Given the description of an element on the screen output the (x, y) to click on. 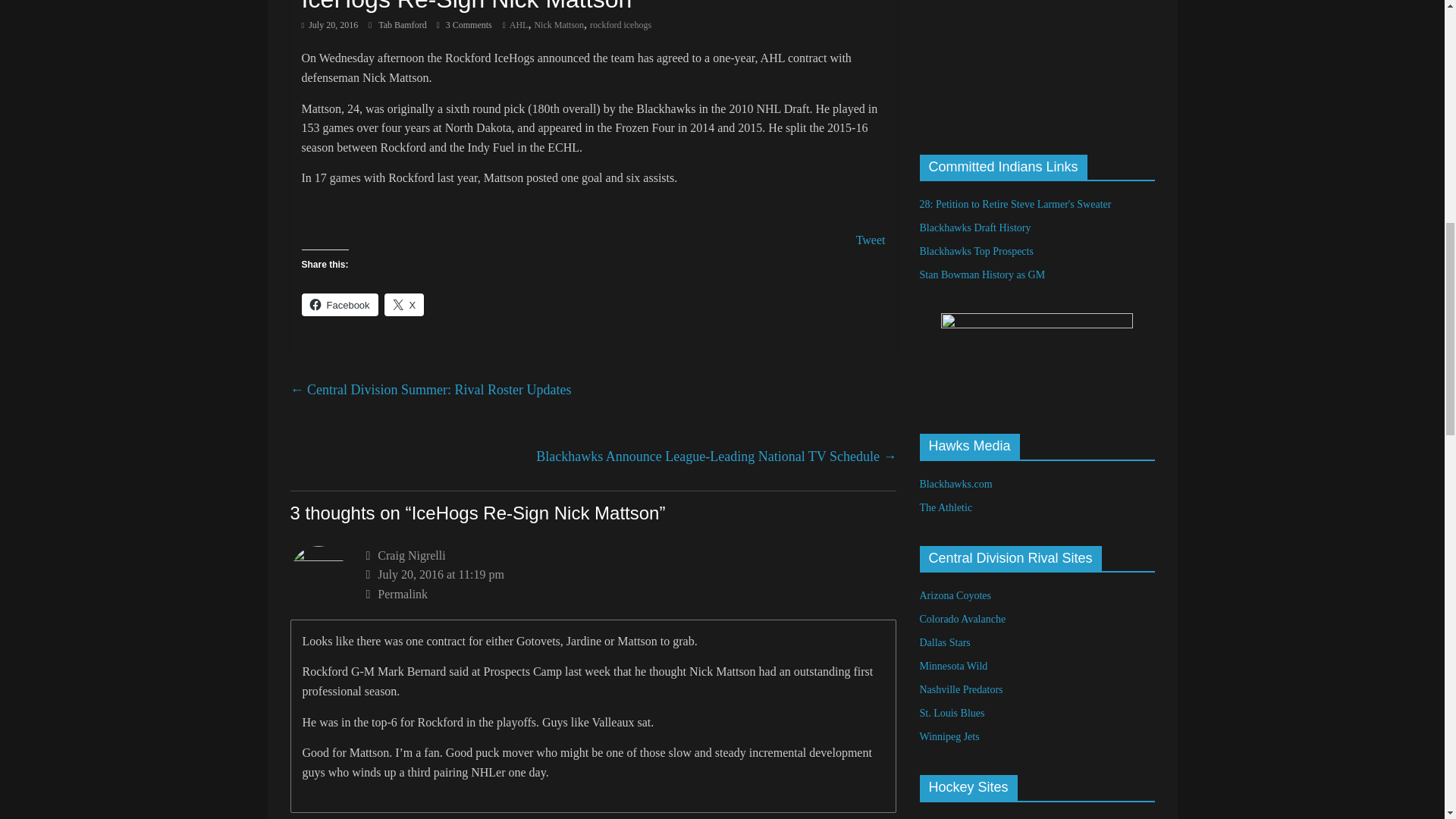
Tab Bamford (403, 24)
Blackhawks Top Prospects (975, 251)
The Athletic (945, 507)
Blackhawks.com (954, 483)
Click to share on Facebook (339, 303)
Blackhawks Draft History (974, 227)
Nashville Predators (960, 689)
AHL (518, 24)
28: Petition to Retire Steve Larmer's Sweater (1014, 204)
Arizona Coyotes (954, 595)
Minnesota Wild (952, 665)
July 20, 2016 (329, 24)
Colorado Avalanche (962, 618)
3 Comments (464, 24)
Permalink (630, 594)
